Given the description of an element on the screen output the (x, y) to click on. 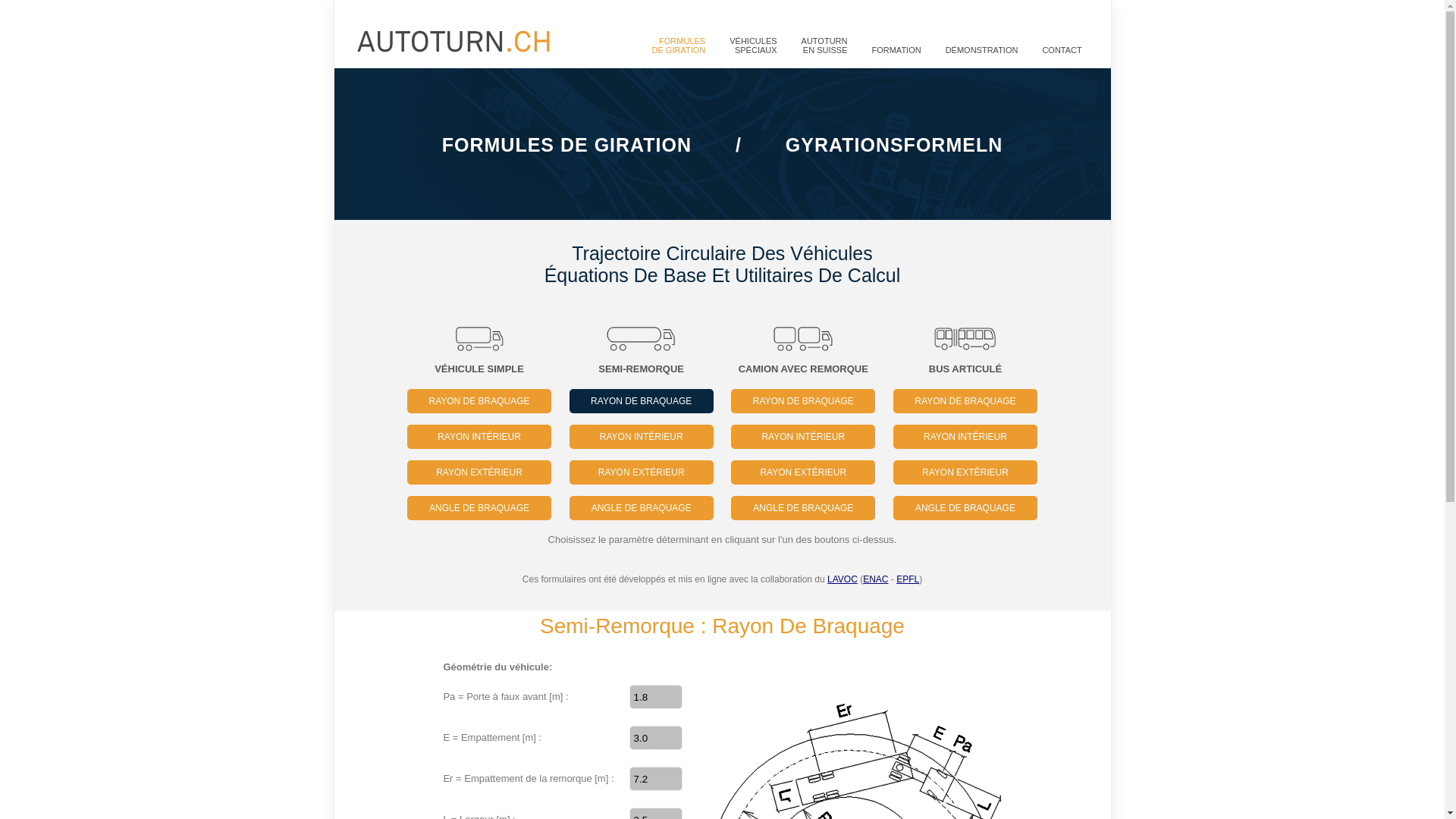
ANGLE DE BRAQUAGE Element type: text (803, 507)
FORMATION Element type: text (895, 49)
LAVOC Element type: text (842, 579)
ANGLE DE BRAQUAGE Element type: text (479, 507)
CONTACT Element type: text (1061, 49)
RAYON DE BRAQUAGE Element type: text (641, 401)
RAYON DE BRAQUAGE Element type: text (479, 401)
RAYON DE BRAQUAGE Element type: text (803, 401)
AUTOTURN
EN SUISSE Element type: text (824, 45)
ANGLE DE BRAQUAGE Element type: text (965, 507)
FORMULES
DE GIRATION Element type: text (679, 45)
ANGLE DE BRAQUAGE Element type: text (641, 507)
EPFL Element type: text (907, 579)
RAYON DE BRAQUAGE Element type: text (965, 401)
ENAC Element type: text (875, 579)
